Given the description of an element on the screen output the (x, y) to click on. 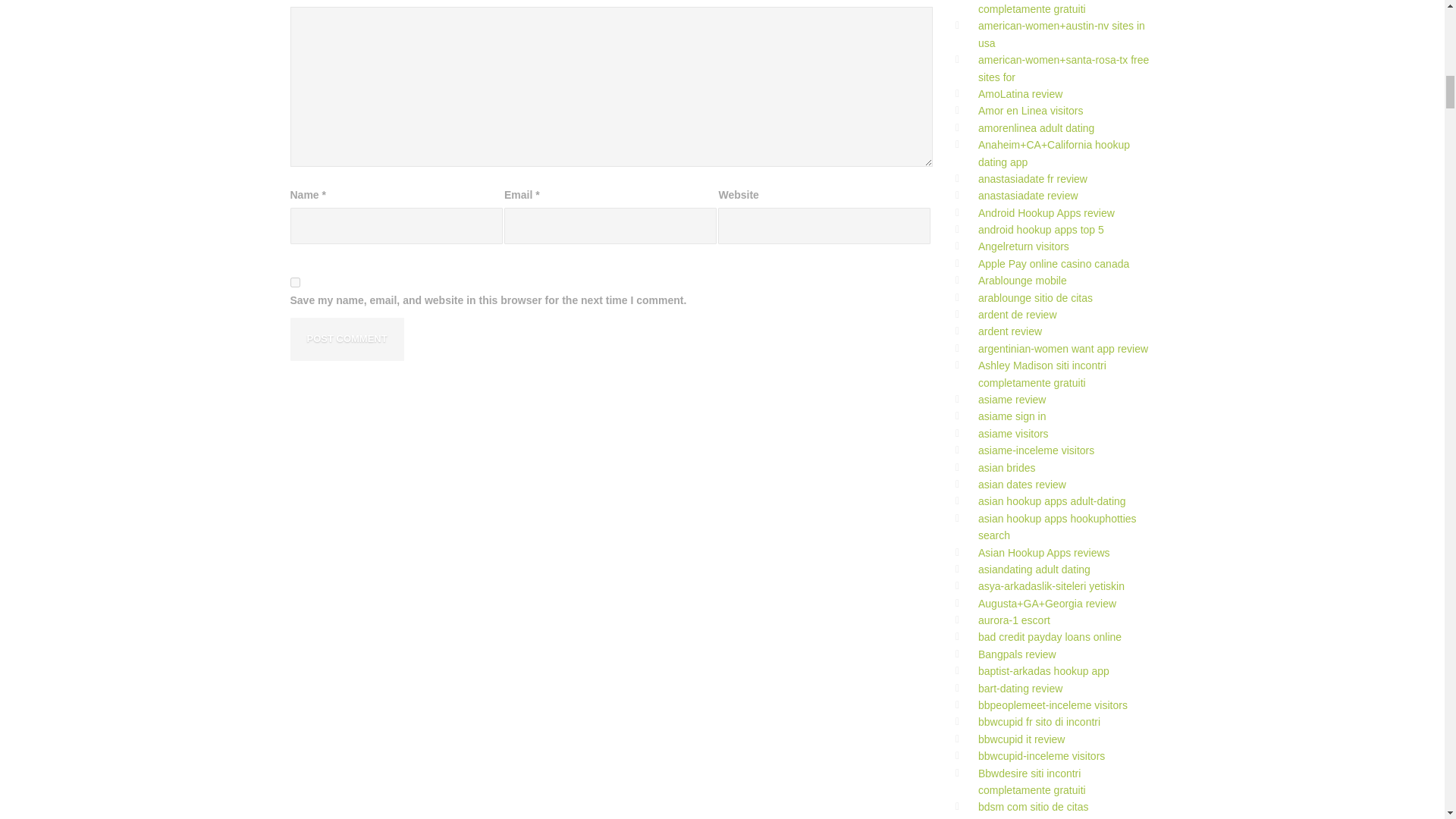
Post Comment (346, 339)
yes (294, 282)
Post Comment (346, 339)
